Given the description of an element on the screen output the (x, y) to click on. 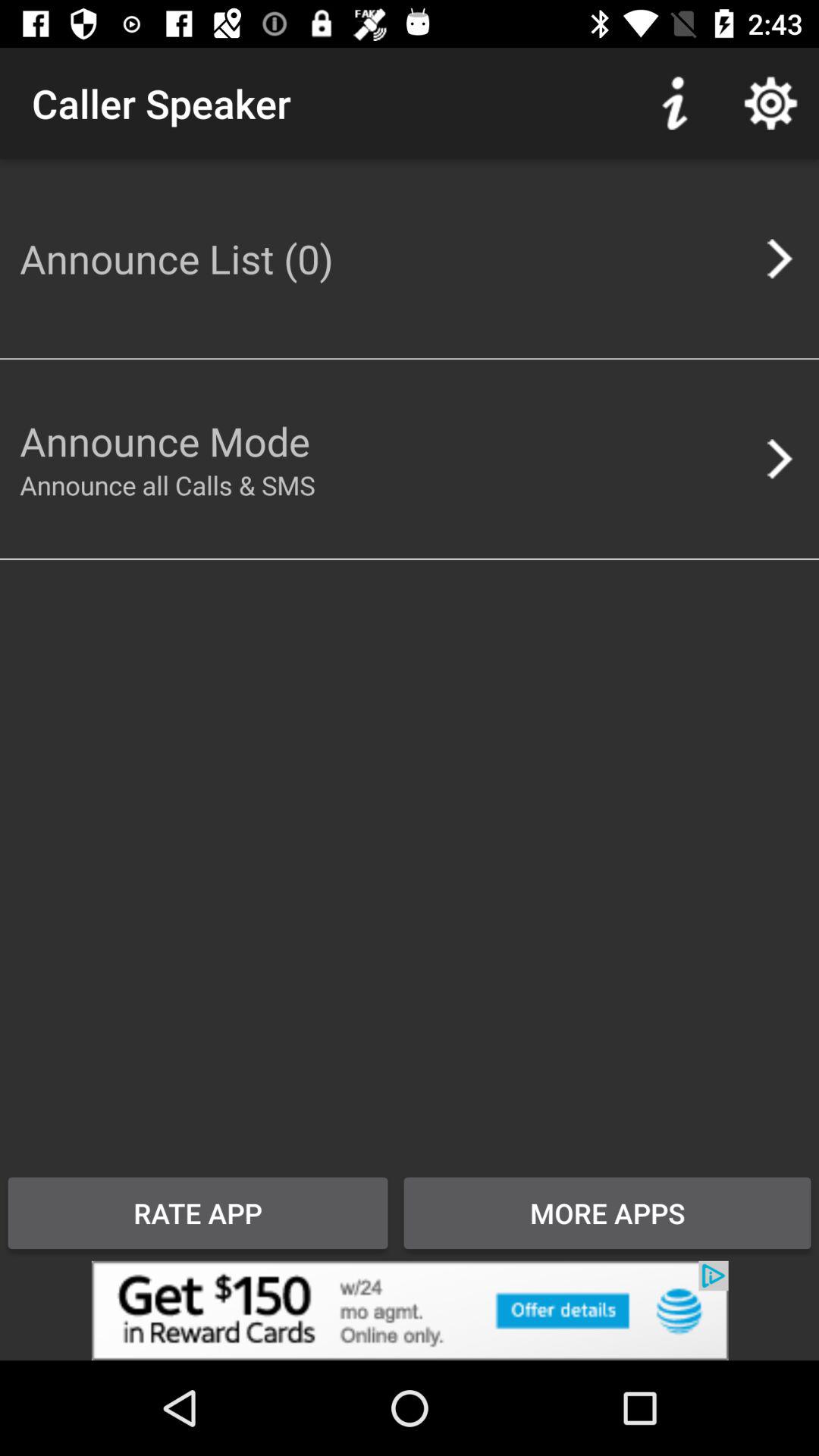
go to an advertisement (409, 1310)
